Given the description of an element on the screen output the (x, y) to click on. 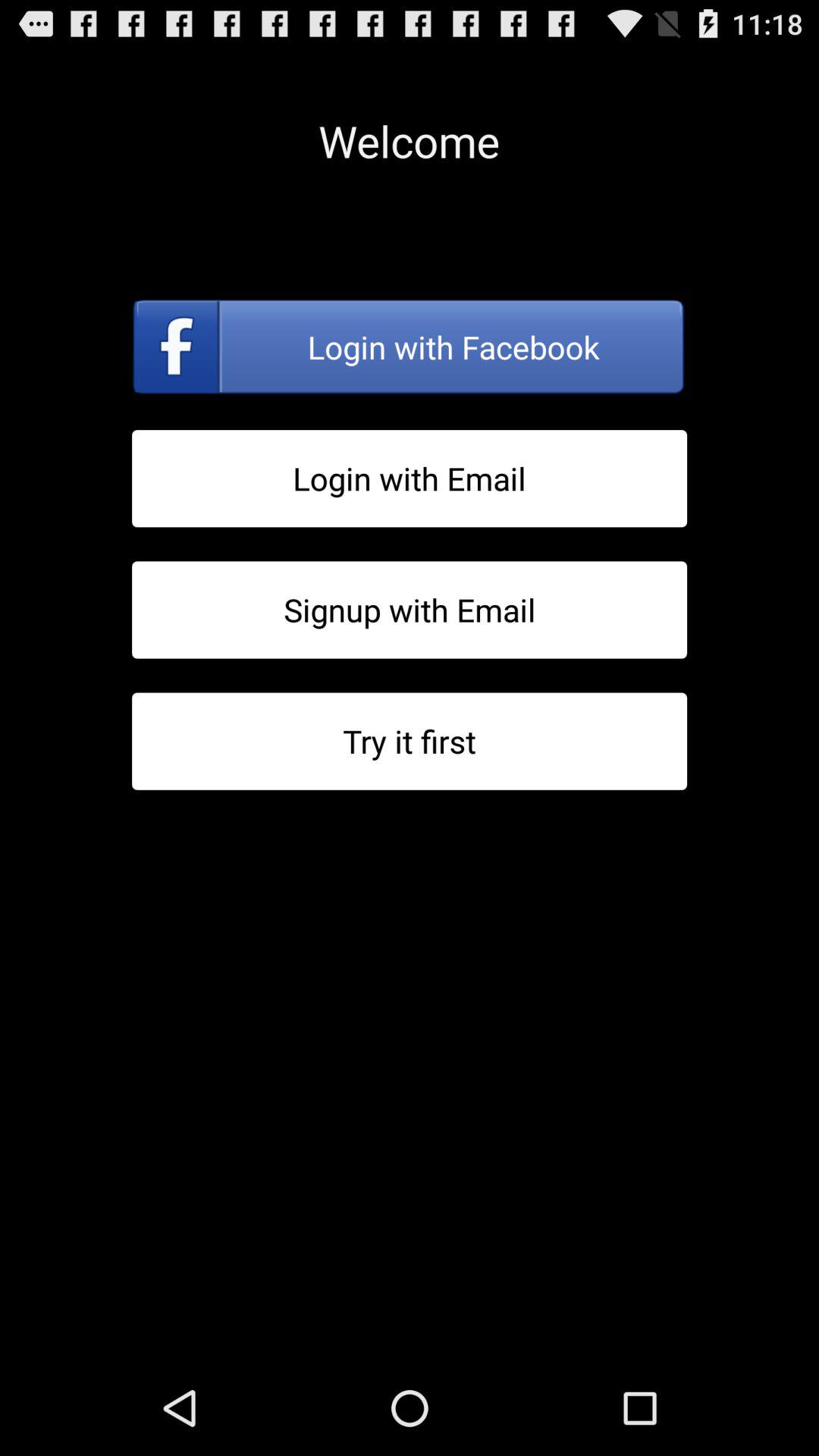
activate trial (409, 741)
